Given the description of an element on the screen output the (x, y) to click on. 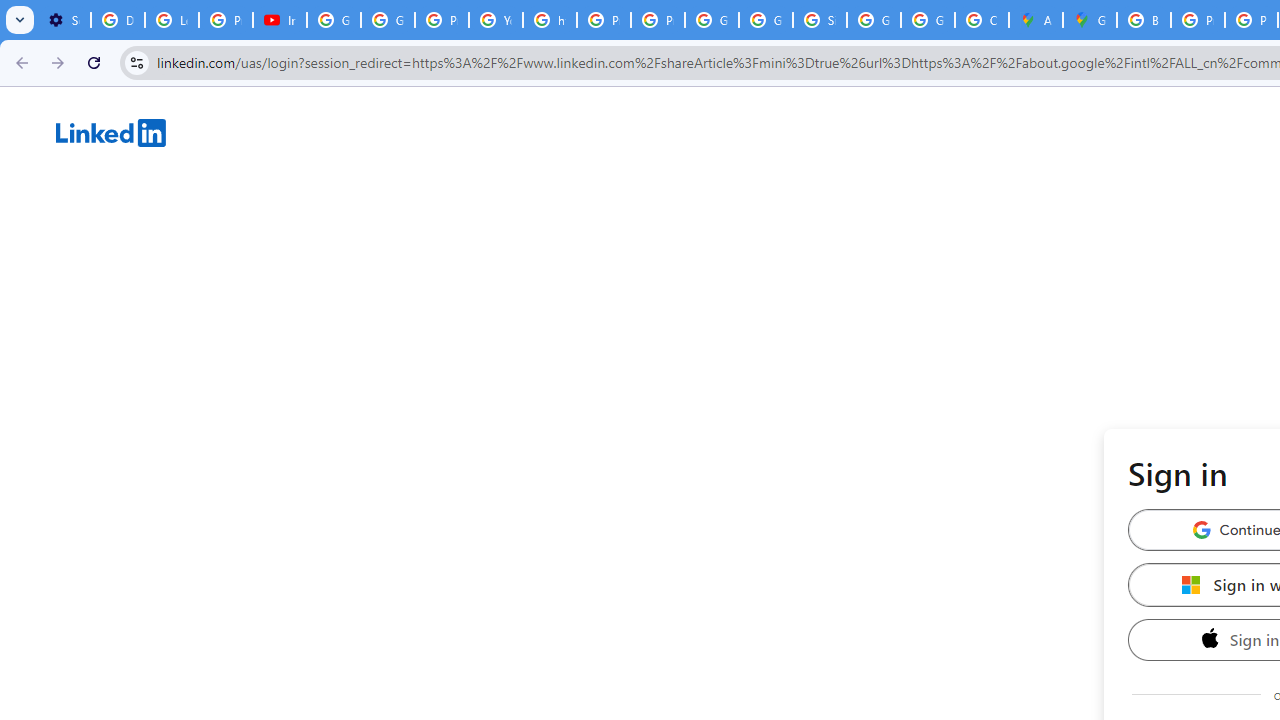
Delete photos & videos - Computer - Google Photos Help (117, 20)
YouTube (495, 20)
Sign in - Google Accounts (819, 20)
Settings - Customize profile (63, 20)
Google Account Help (333, 20)
Privacy Help Center - Policies Help (604, 20)
Microsoft (1191, 583)
